Given the description of an element on the screen output the (x, y) to click on. 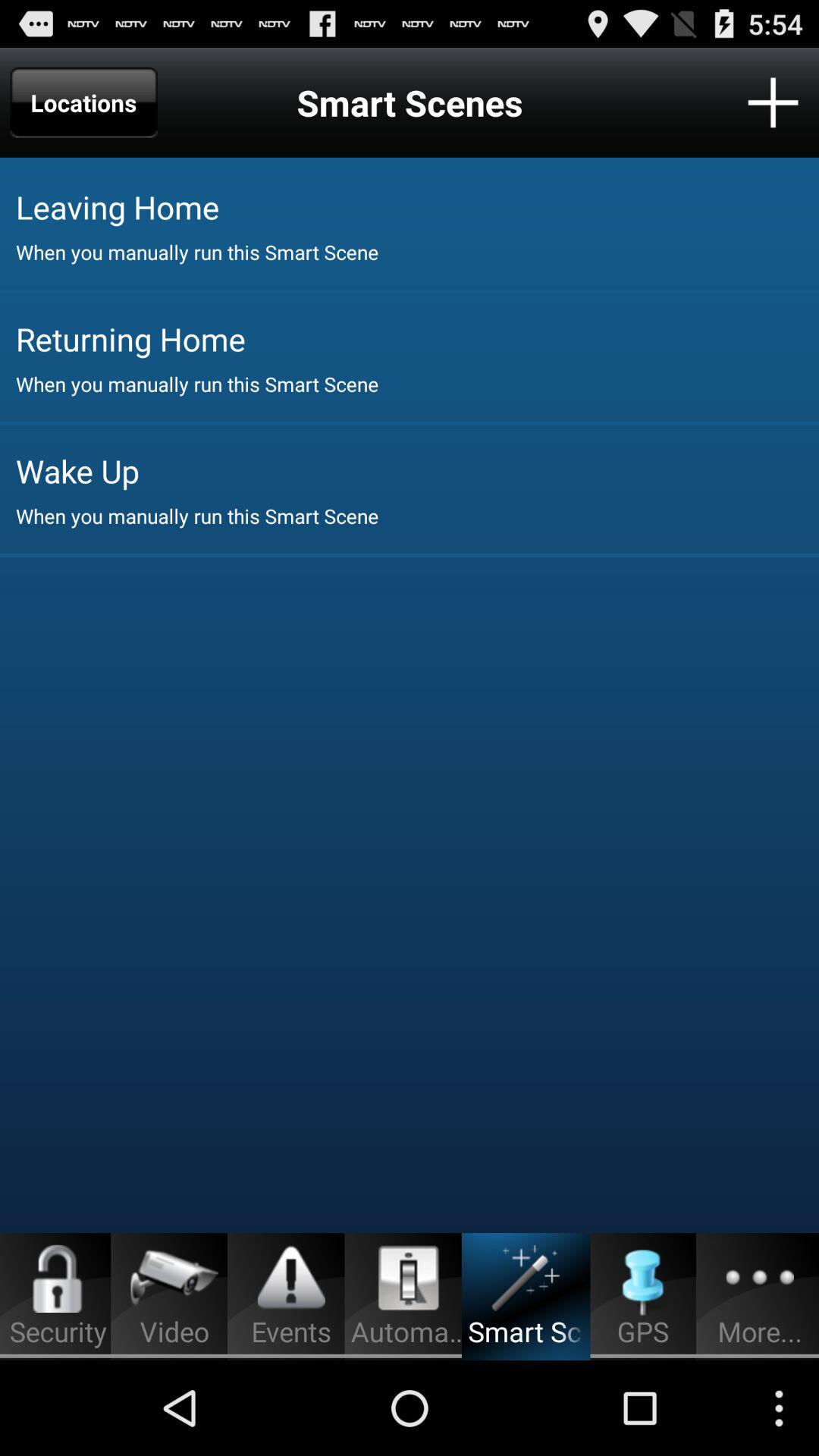
add a smart scene (773, 102)
